Given the description of an element on the screen output the (x, y) to click on. 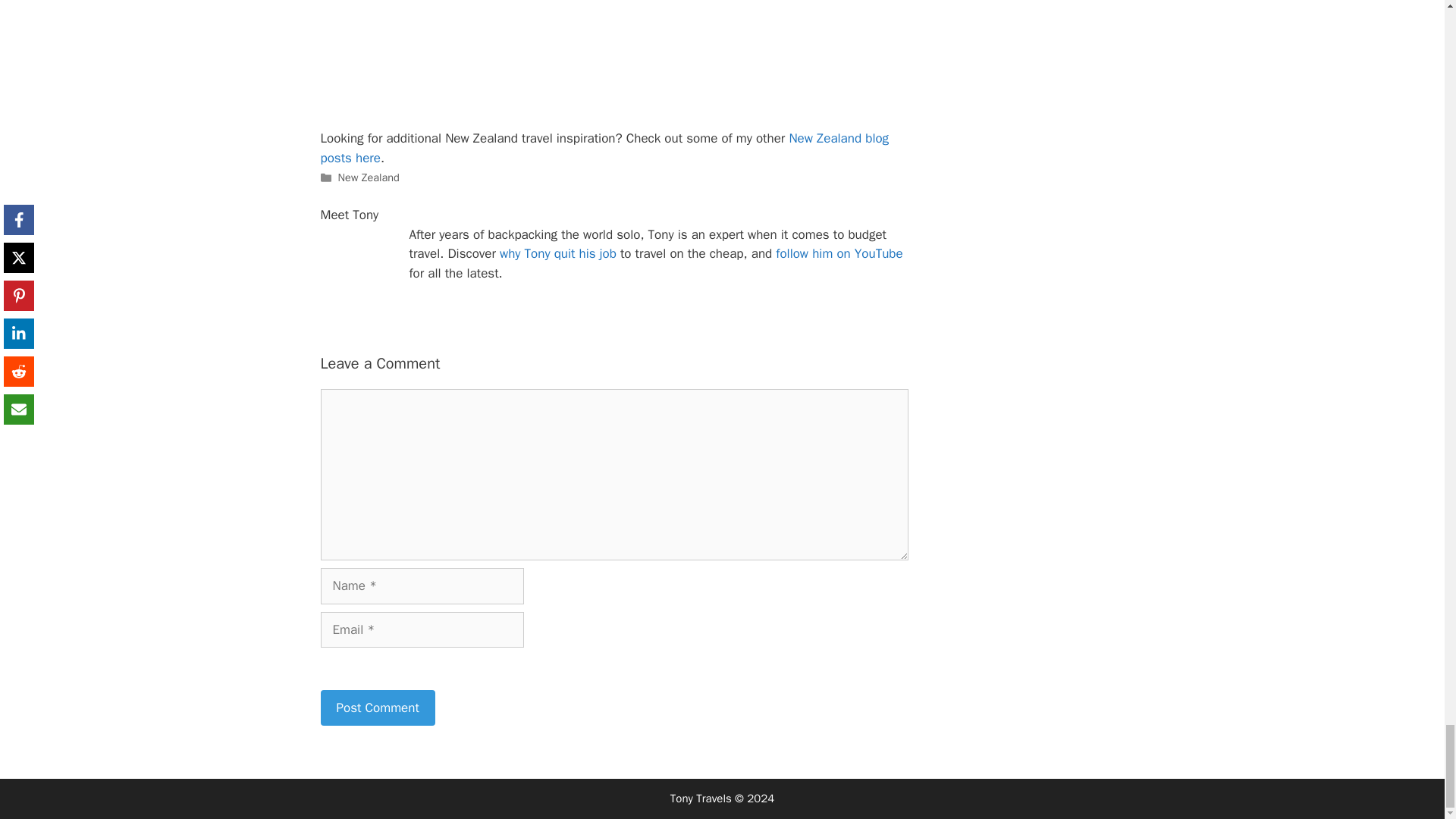
Post Comment (376, 708)
New Zealand blog posts here (604, 148)
follow him on YouTube (839, 253)
why Tony quit his job (557, 253)
Post Comment (376, 708)
New Zealand (367, 177)
